Given the description of an element on the screen output the (x, y) to click on. 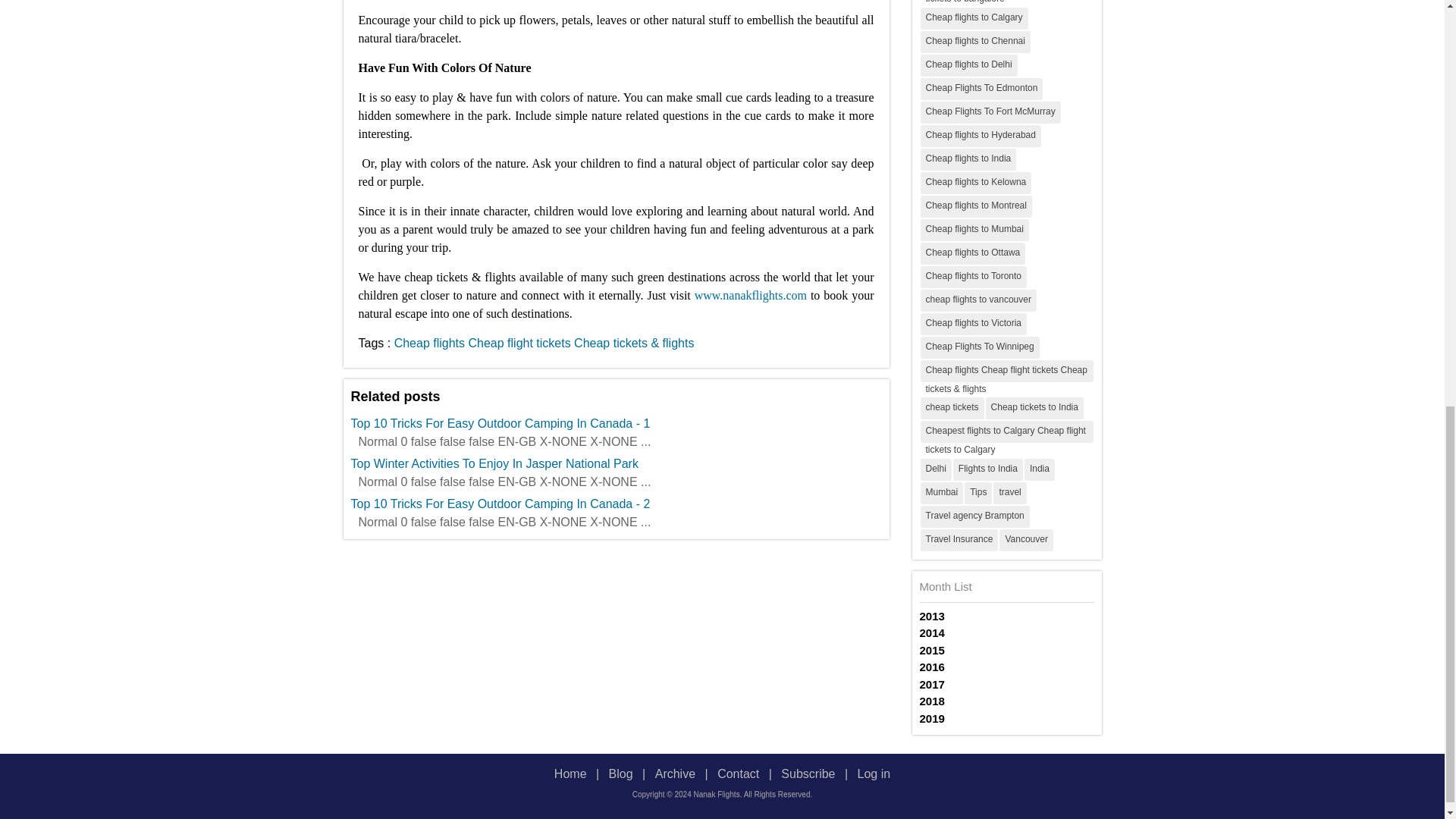
www.nanakflights.com (750, 294)
Top 10 Tricks For Easy Outdoor Camping In Canada - 1 (615, 423)
Top Winter Activities To Enjoy In Jasper National Park (615, 464)
Cheap flights to Delhi (968, 65)
Top 10 Tricks For Easy Outdoor Camping In Canada - 2 (615, 503)
Cheap flights to Chennai (975, 41)
Cheap flights to Calgary (973, 18)
Cheap Flights To Edmonton (981, 87)
